Given the description of an element on the screen output the (x, y) to click on. 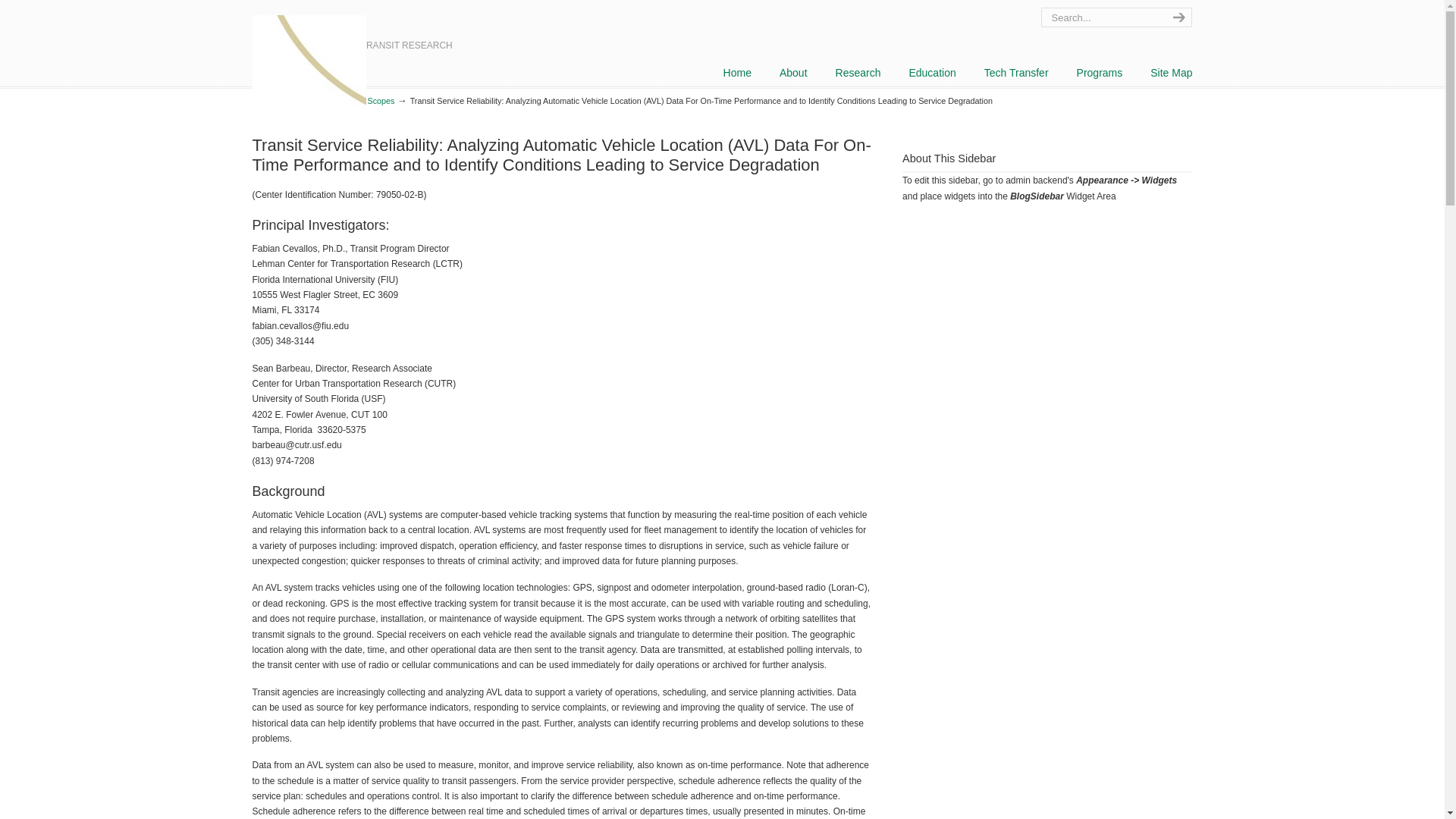
Home (262, 100)
search (1176, 17)
Tech Transfer (1016, 72)
Research (305, 100)
Education (932, 72)
search (1176, 17)
search (1176, 17)
Programs (1099, 72)
About (793, 72)
Home (737, 72)
Research (858, 72)
Project Scopes (366, 100)
Site Map (1171, 72)
Search... (1100, 17)
National Center for Transit Research (308, 71)
